Given the description of an element on the screen output the (x, y) to click on. 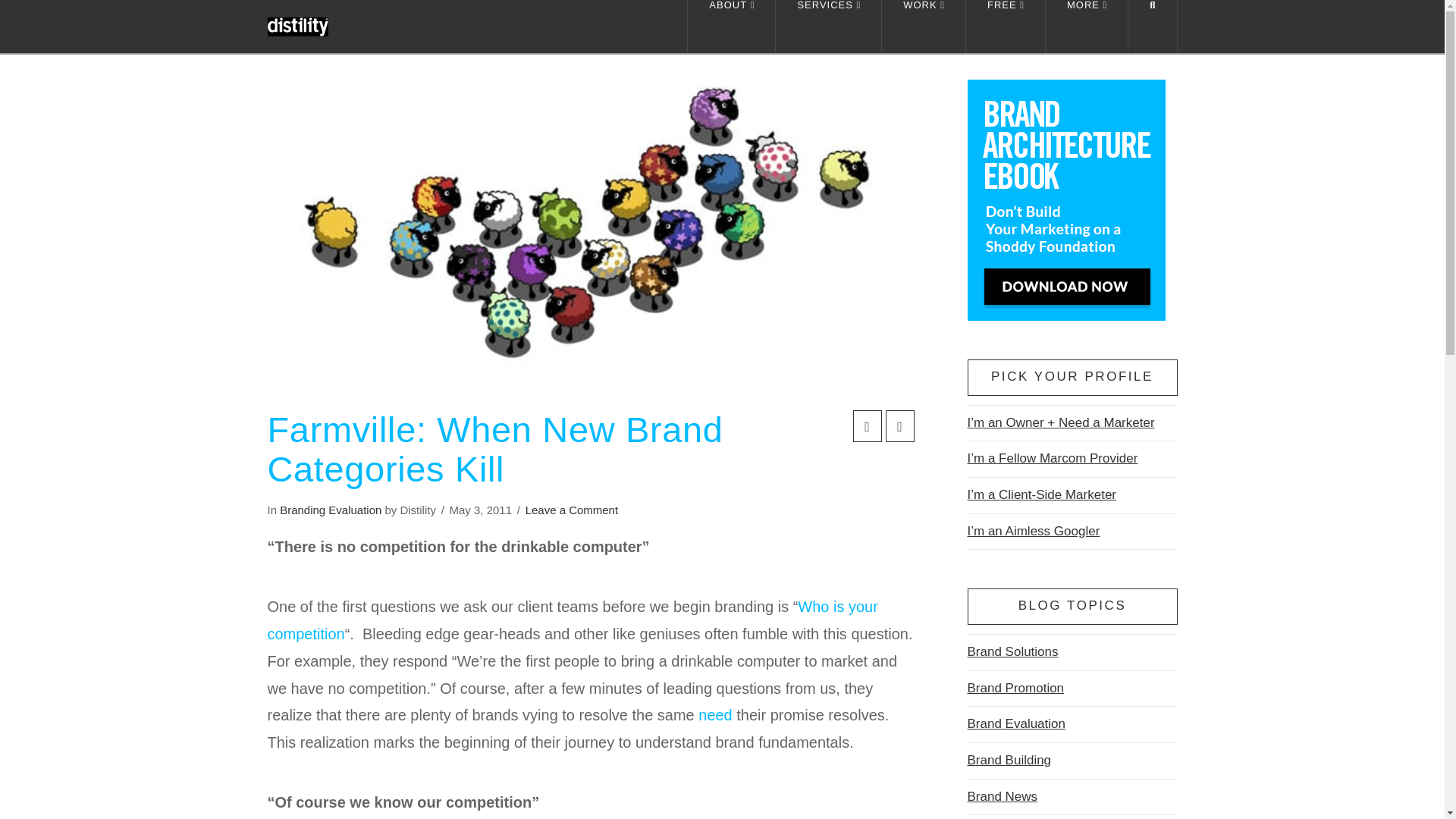
Who is your competition (571, 620)
WORK (924, 26)
FREE (1005, 26)
need (715, 714)
MORE (1086, 26)
SERVICES (829, 26)
ABOUT (731, 26)
